Given the description of an element on the screen output the (x, y) to click on. 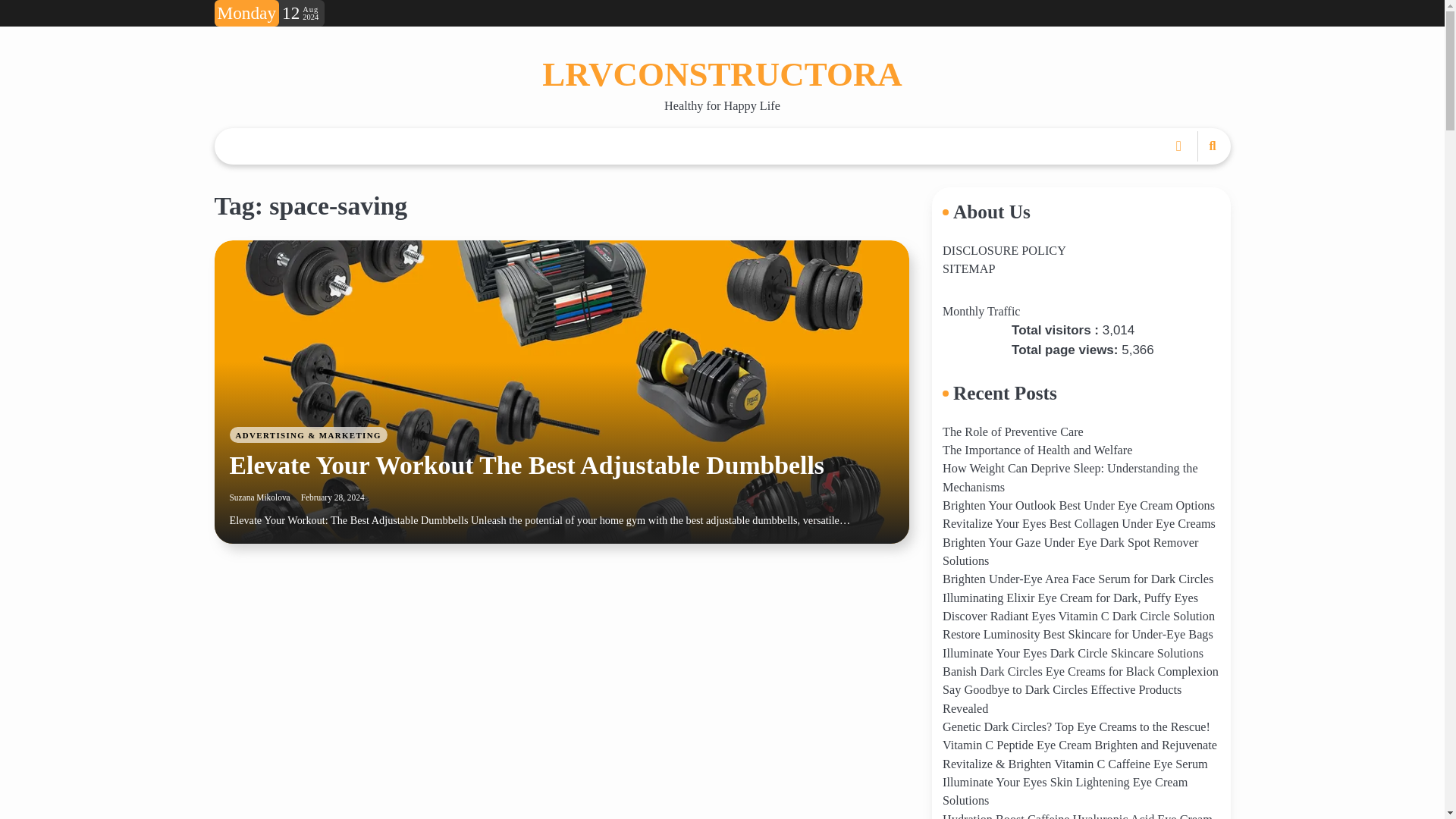
Vitamin C Peptide Eye Cream Brighten and Rejuvenate (1079, 745)
Illuminate Your Eyes Dark Circle Skincare Solutions (1073, 653)
Genetic Dark Circles? Top Eye Creams to the Rescue! (1075, 726)
Hydration Boost Caffeine Hyaluronic Acid Eye Cream (1077, 816)
LRVCONSTRUCTORA (721, 74)
Suzana Mikolova (258, 497)
DISCLOSURE POLICY (1003, 250)
Brighten Your Outlook Best Under Eye Cream Options (1078, 505)
February 28, 2024 (333, 497)
The Importance of Health and Welfare (1037, 450)
